Given the description of an element on the screen output the (x, y) to click on. 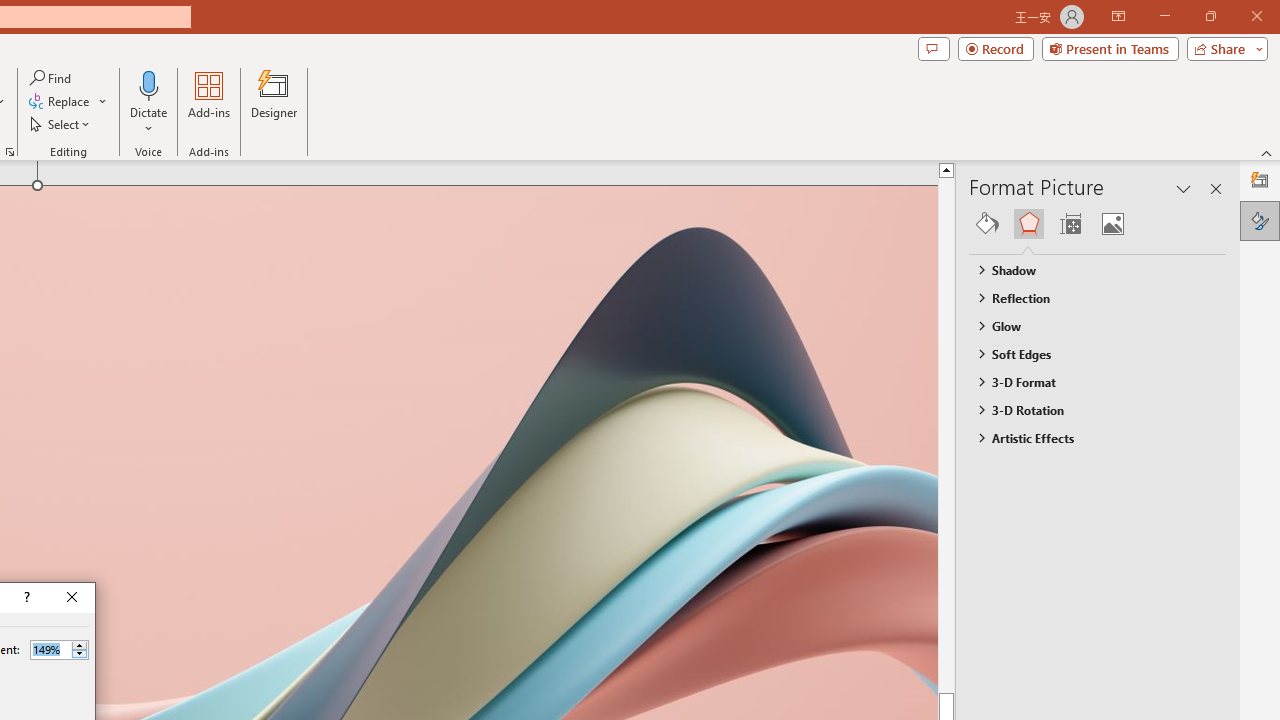
Picture (1112, 223)
Class: NetUIGalleryContainer (1098, 223)
Context help (25, 597)
Artistic Effects (1088, 438)
Fill & Line (987, 223)
